Given the description of an element on the screen output the (x, y) to click on. 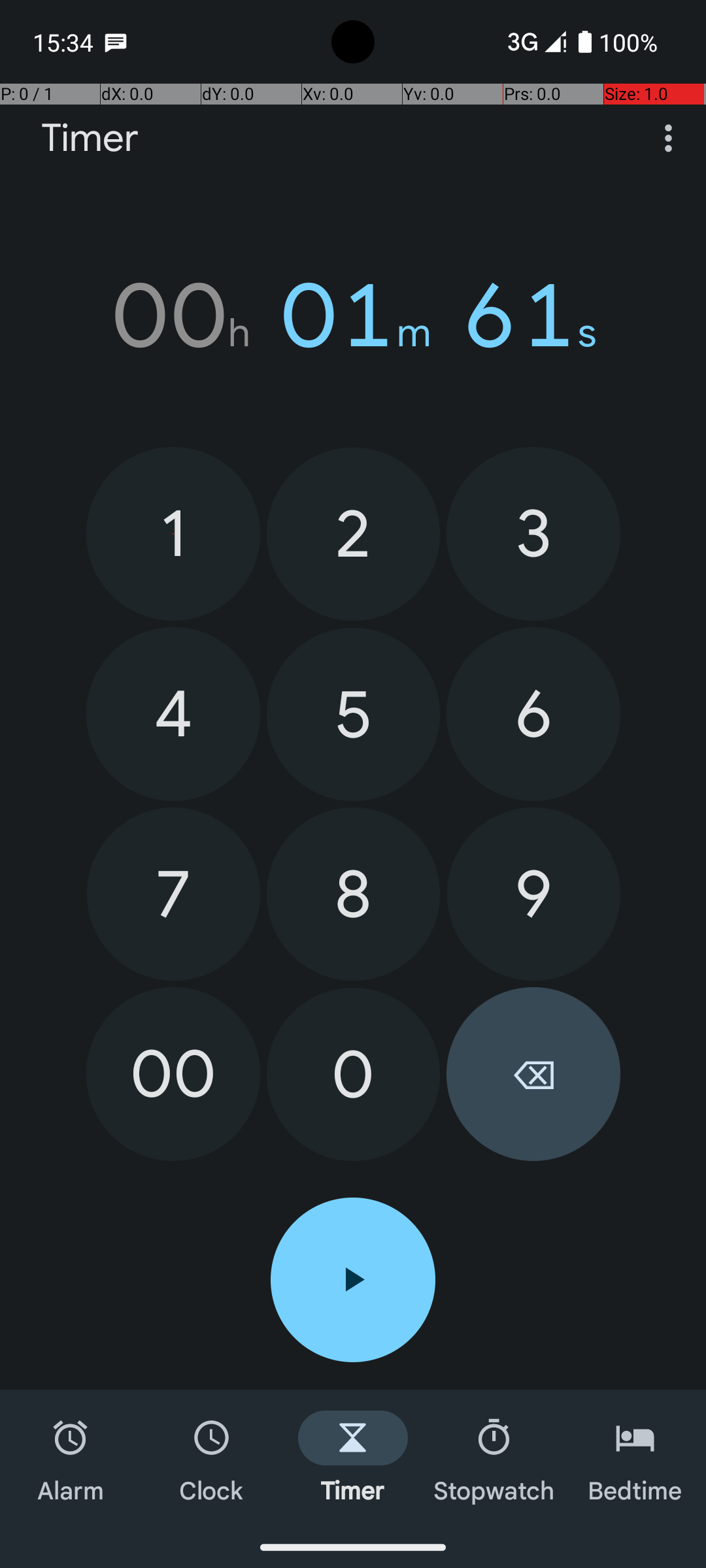
00h 01m 61s Element type: android.widget.TextView (353, 315)
⌫ Element type: android.widget.Button (533, 1073)
SMS Messenger notification: Matteo Ibrahim Element type: android.widget.ImageView (115, 41)
